Given the description of an element on the screen output the (x, y) to click on. 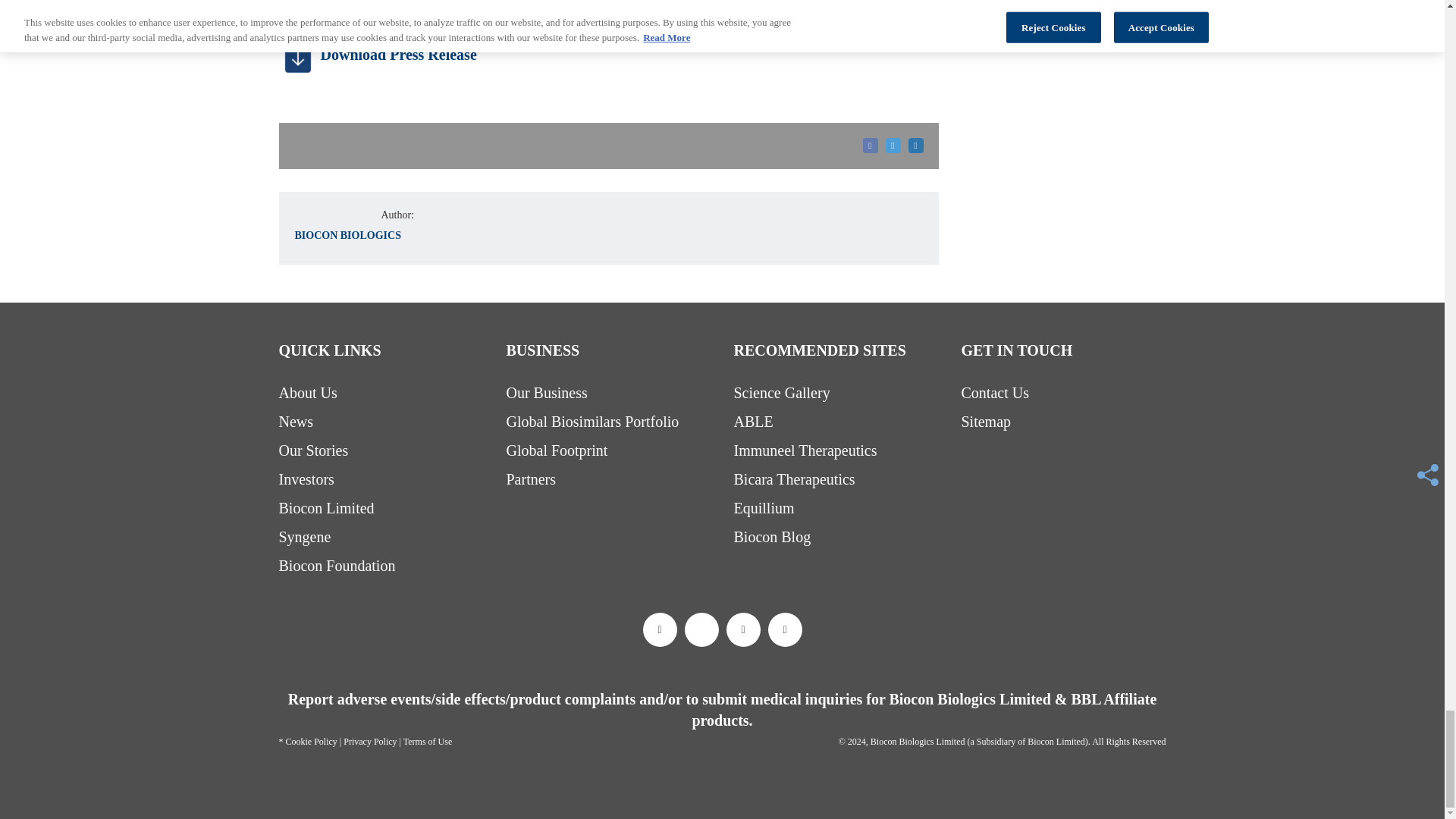
Download Press Release (298, 54)
